Given the description of an element on the screen output the (x, y) to click on. 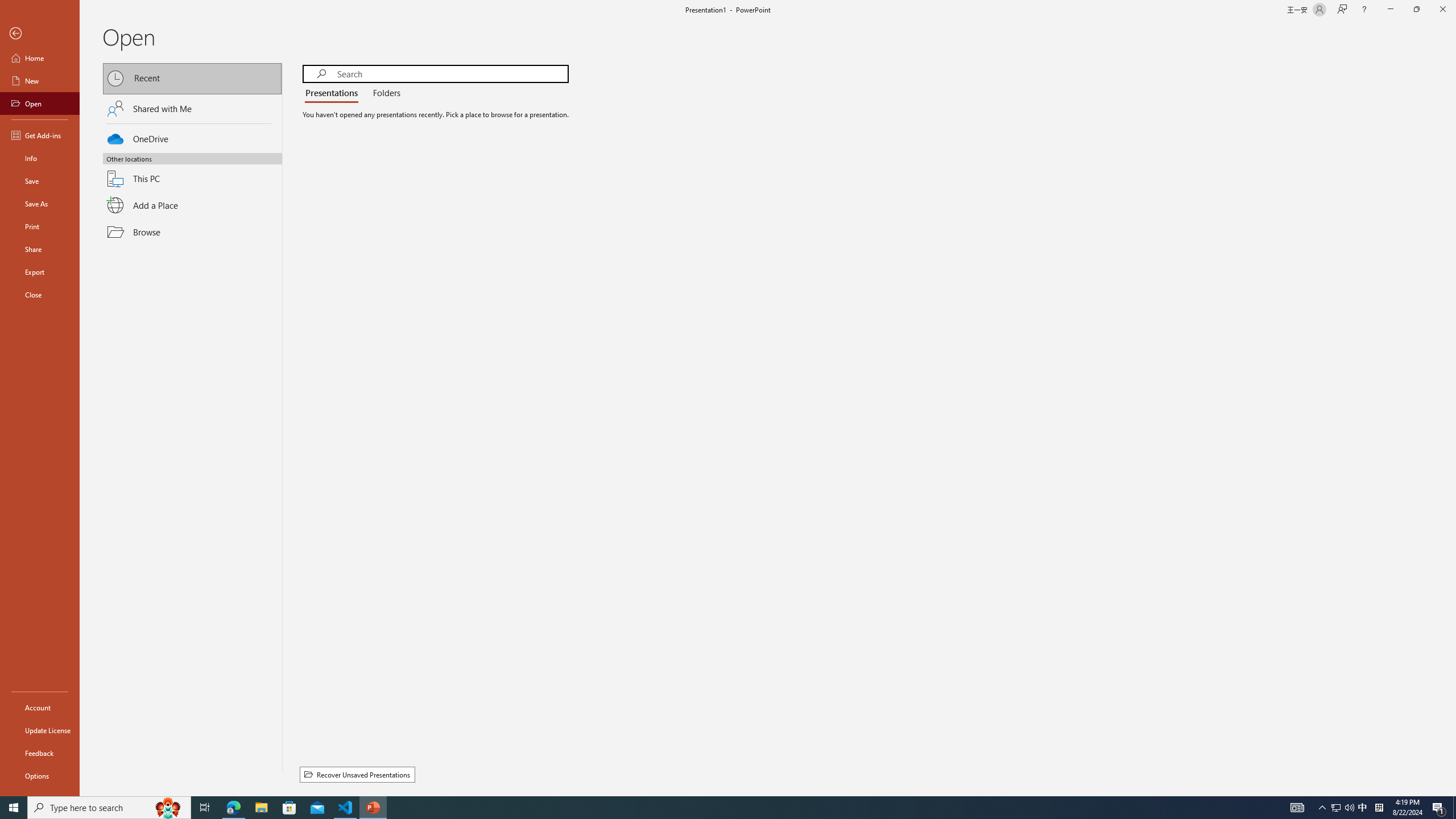
Browse (192, 231)
Save As (40, 203)
Feedback (40, 753)
Update License (40, 730)
Info (40, 157)
Options (40, 775)
New (40, 80)
